Given the description of an element on the screen output the (x, y) to click on. 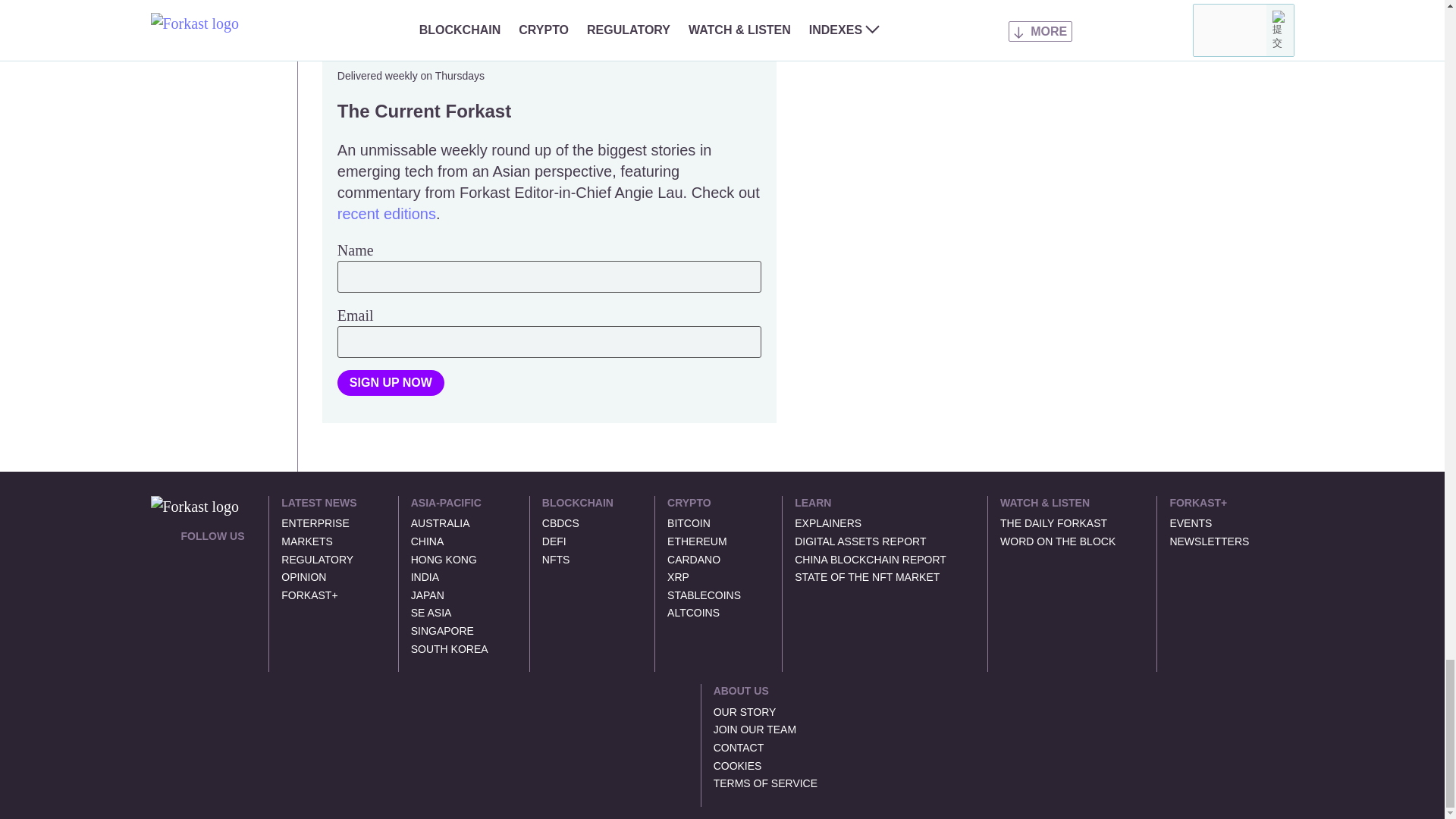
Forkast's profile on Instagram (186, 587)
Forkast's profile on LinkedIn (204, 555)
Forkast's profile on Facebook (222, 555)
Forkast's profile on Twitter (186, 555)
Sign up now (390, 382)
